Given the description of an element on the screen output the (x, y) to click on. 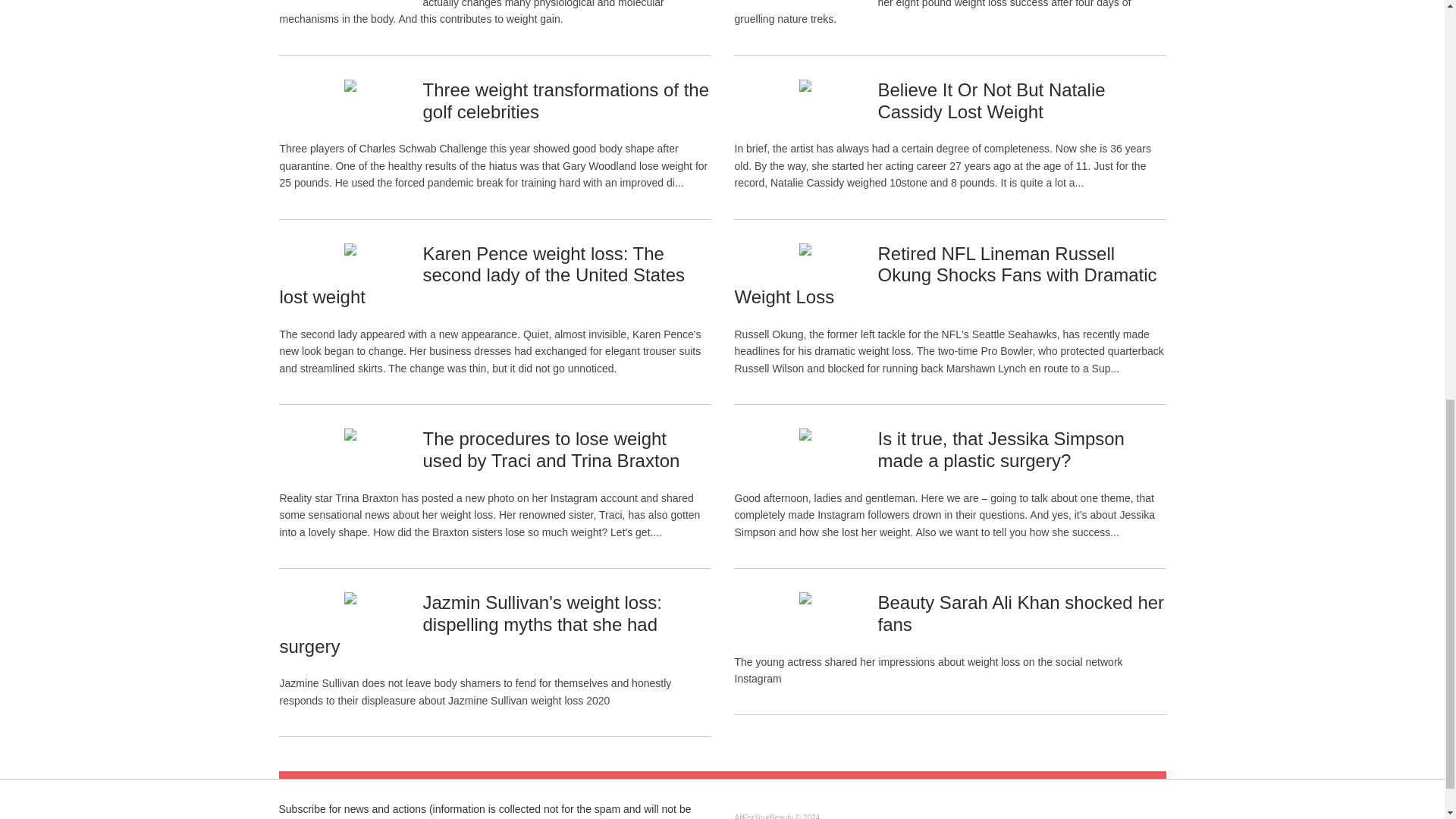
Three weight transformations of the golf celebrities (565, 100)
Believe It Or Not But Natalie Cassidy Lost Weight (991, 100)
Beauty Sarah Ali Khan shocked her fans (1020, 613)
